Given the description of an element on the screen output the (x, y) to click on. 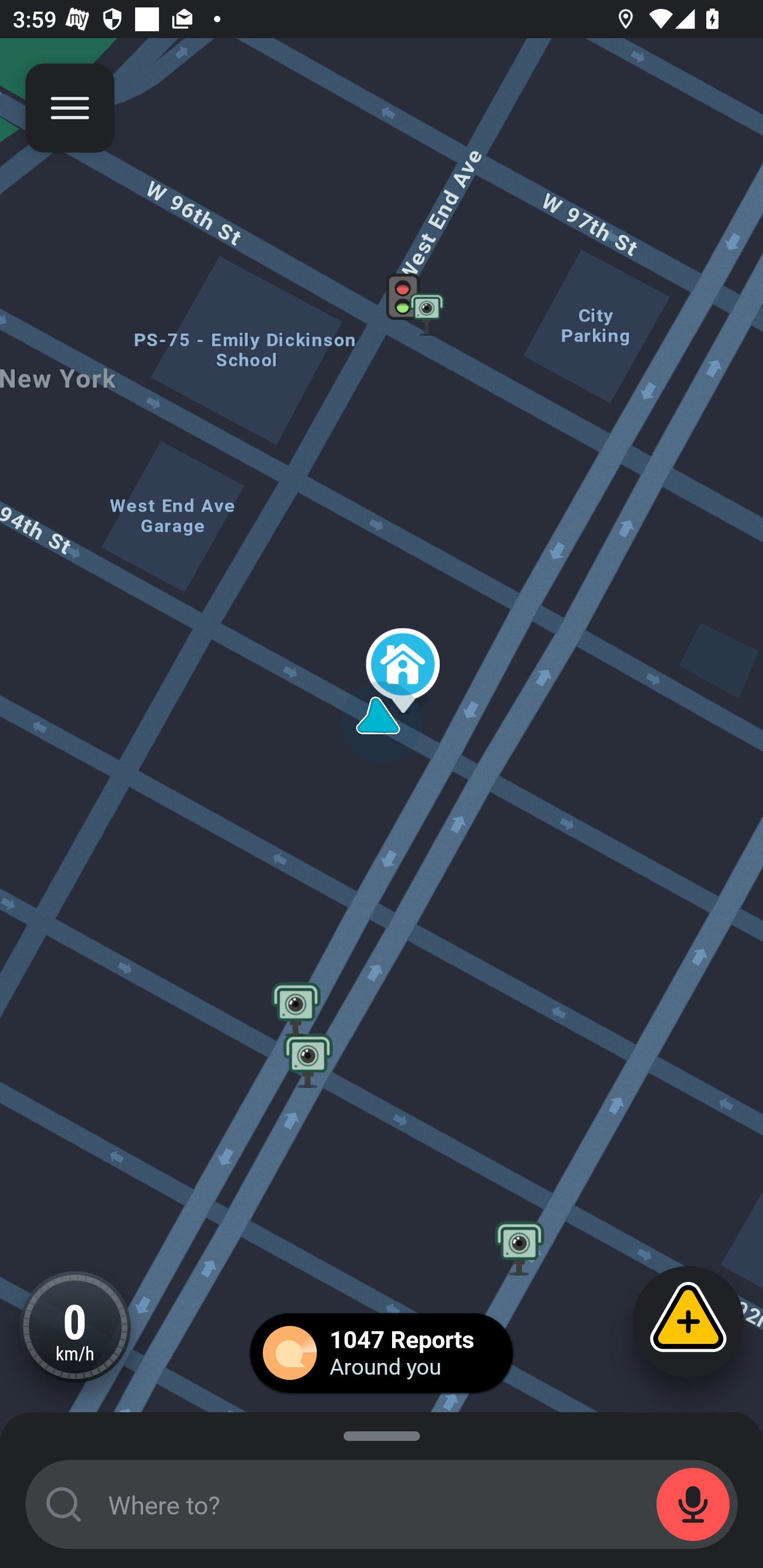
SUGGESTIONS_SHEET_DRAG_HANDLE (381, 1432)
START_STATE_SEARCH_FIELD Where to? (381, 1504)
